Given the description of an element on the screen output the (x, y) to click on. 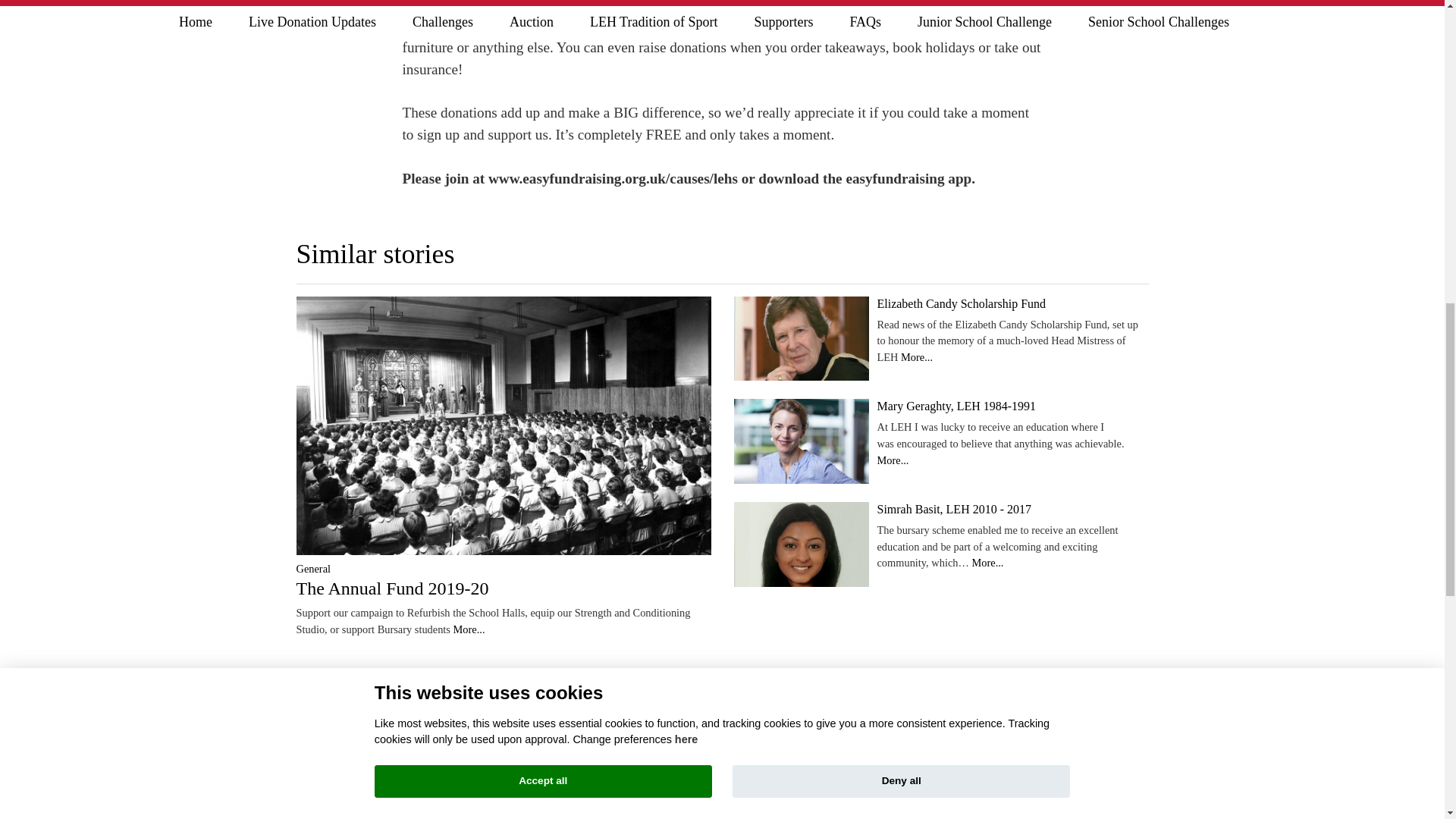
More... (917, 357)
General (312, 568)
Elizabeth Candy Scholarship Fund (960, 303)
More... (468, 629)
easyfundraising app (908, 178)
The Annual Fund 2019-20 (391, 588)
